Given the description of an element on the screen output the (x, y) to click on. 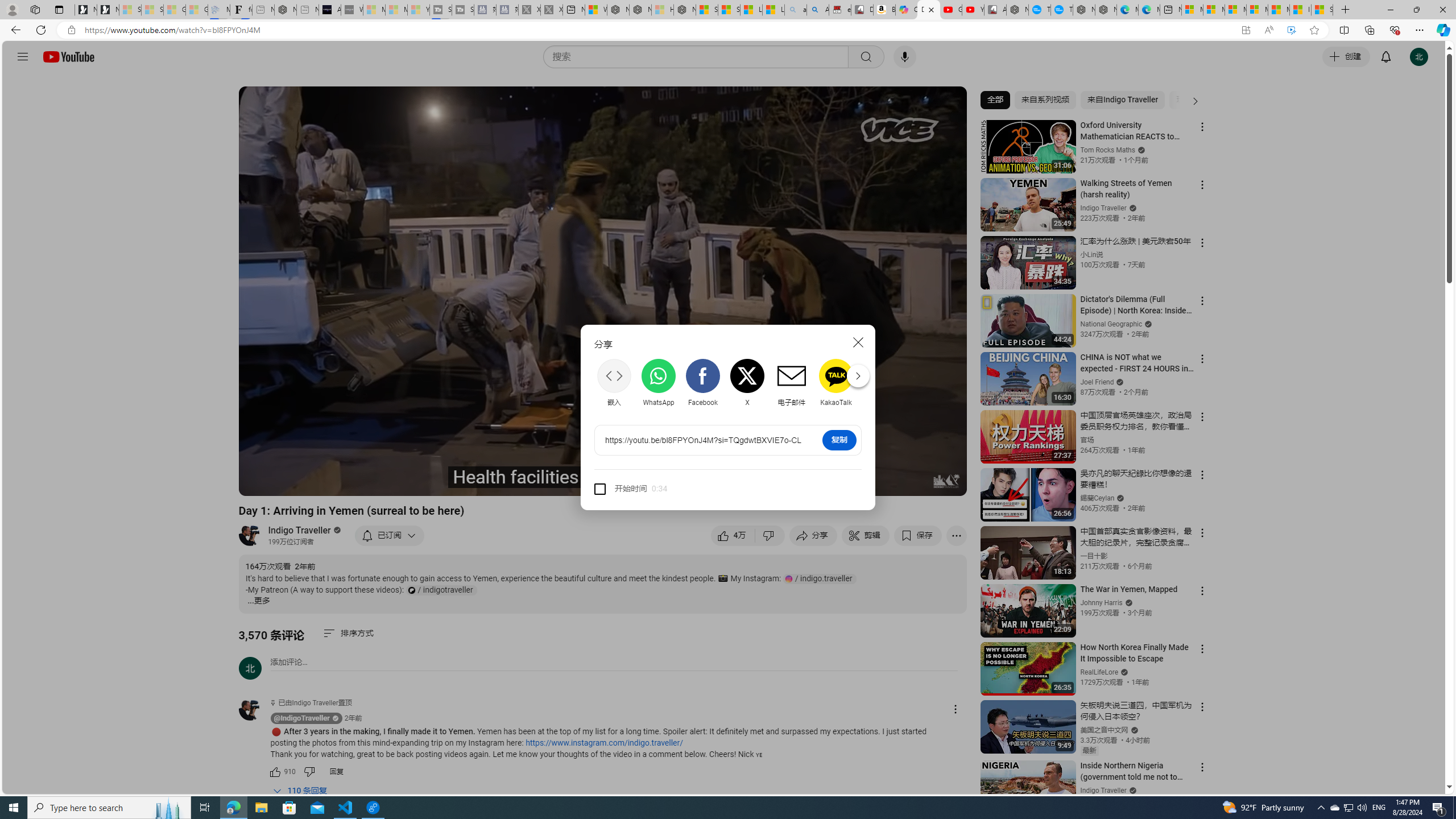
Instagram Channel Link: indigo.traveller (819, 578)
App available. Install YouTube (1245, 29)
Indigo Traveller (299, 530)
Class: ytp-subtitles-button-icon (837, 482)
Class: style-scope tp-yt-paper-input (664, 488)
